Given the description of an element on the screen output the (x, y) to click on. 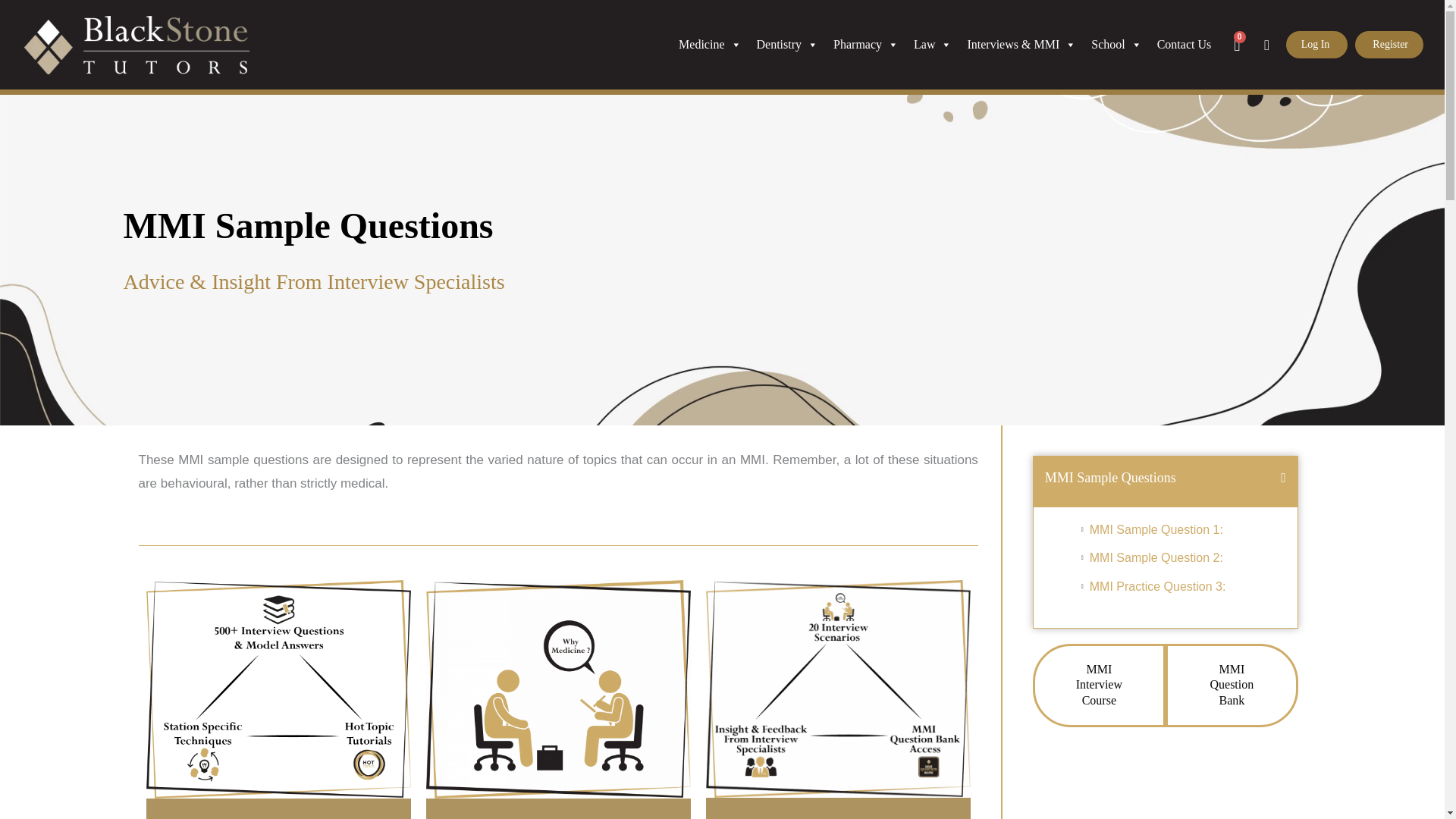
Medicine (709, 44)
